Given the description of an element on the screen output the (x, y) to click on. 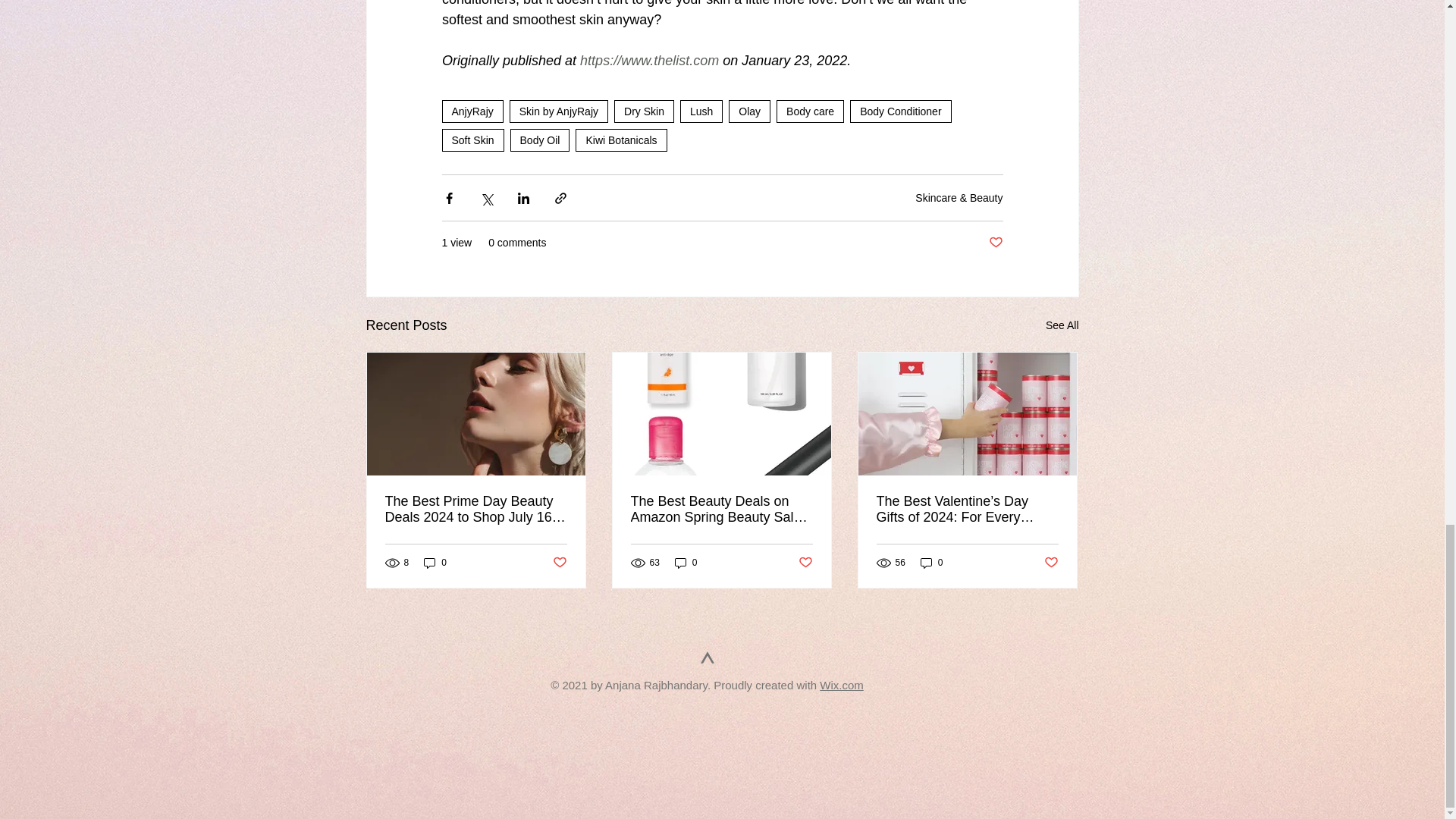
Body care (810, 110)
Body Oil (540, 139)
Soft Skin (472, 139)
AnjyRajy (471, 110)
Dry Skin (644, 110)
Lush (700, 110)
Kiwi Botanicals (620, 139)
Post not marked as liked (995, 242)
Skin by AnjyRajy (558, 110)
Olay (749, 110)
